Given the description of an element on the screen output the (x, y) to click on. 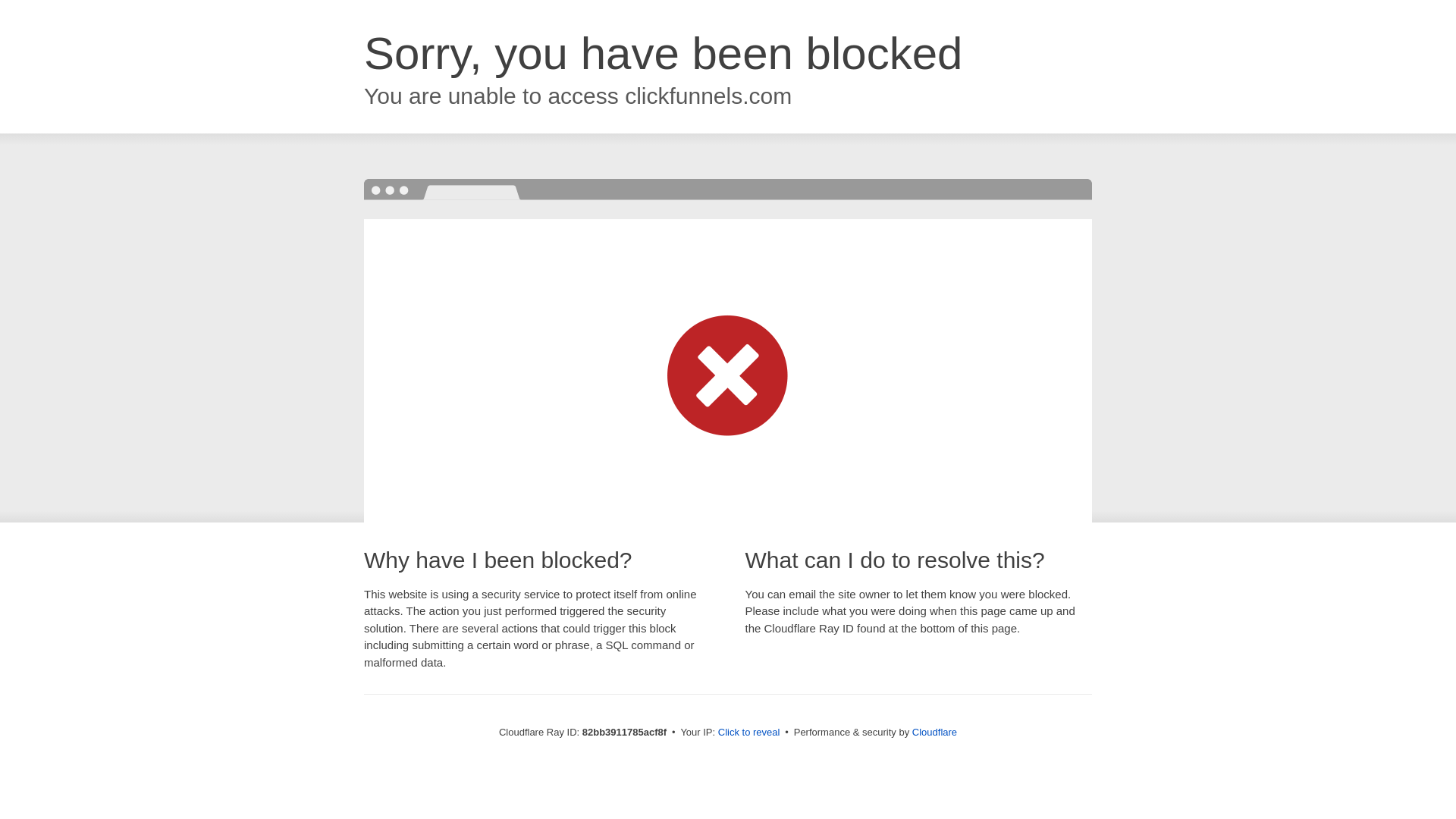
Click to reveal Element type: text (749, 732)
Cloudflare Element type: text (934, 731)
